Given the description of an element on the screen output the (x, y) to click on. 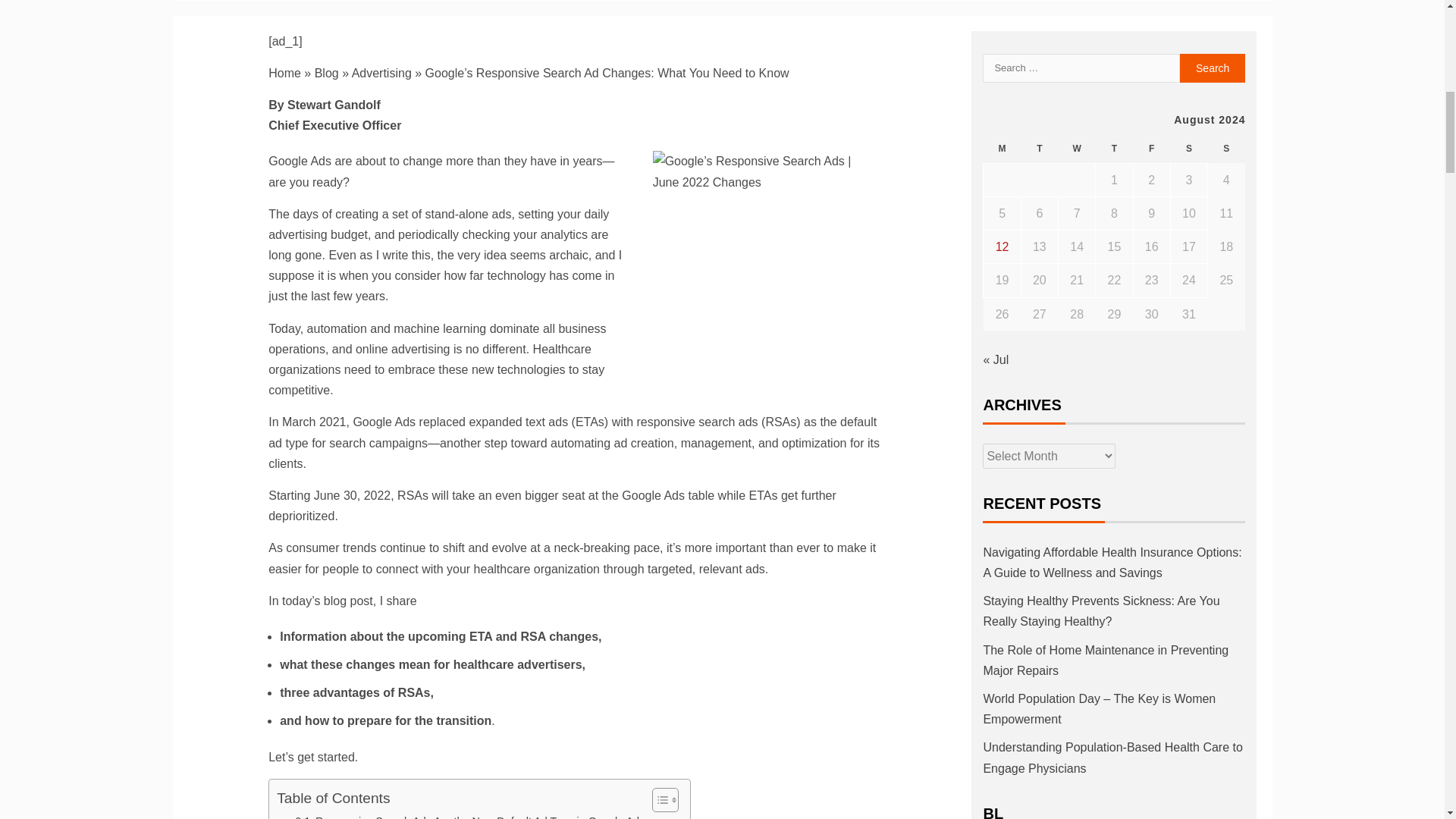
Search (1212, 68)
Search (1212, 68)
